Given the description of an element on the screen output the (x, y) to click on. 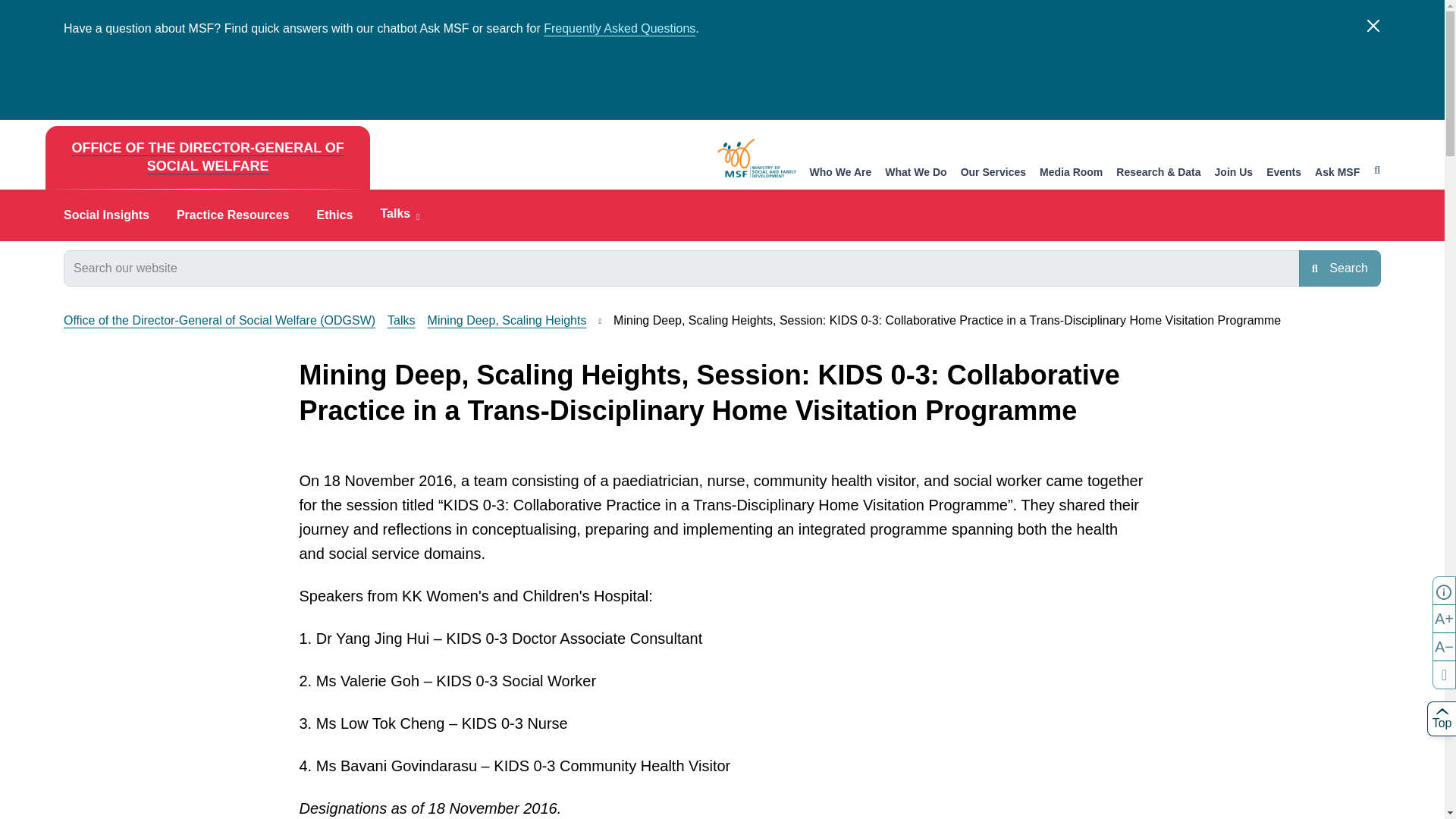
Who We Are (840, 172)
MSF logo (756, 157)
Join Us (1233, 172)
Frequently Asked Questions (619, 28)
Ask MSF (1336, 172)
OFFICE OF THE DIRECTOR-GENERAL OF SOCIAL WELFARE (207, 157)
What We Do (915, 172)
Media Room (1070, 172)
Our Services (993, 172)
Events (1283, 172)
